Given the description of an element on the screen output the (x, y) to click on. 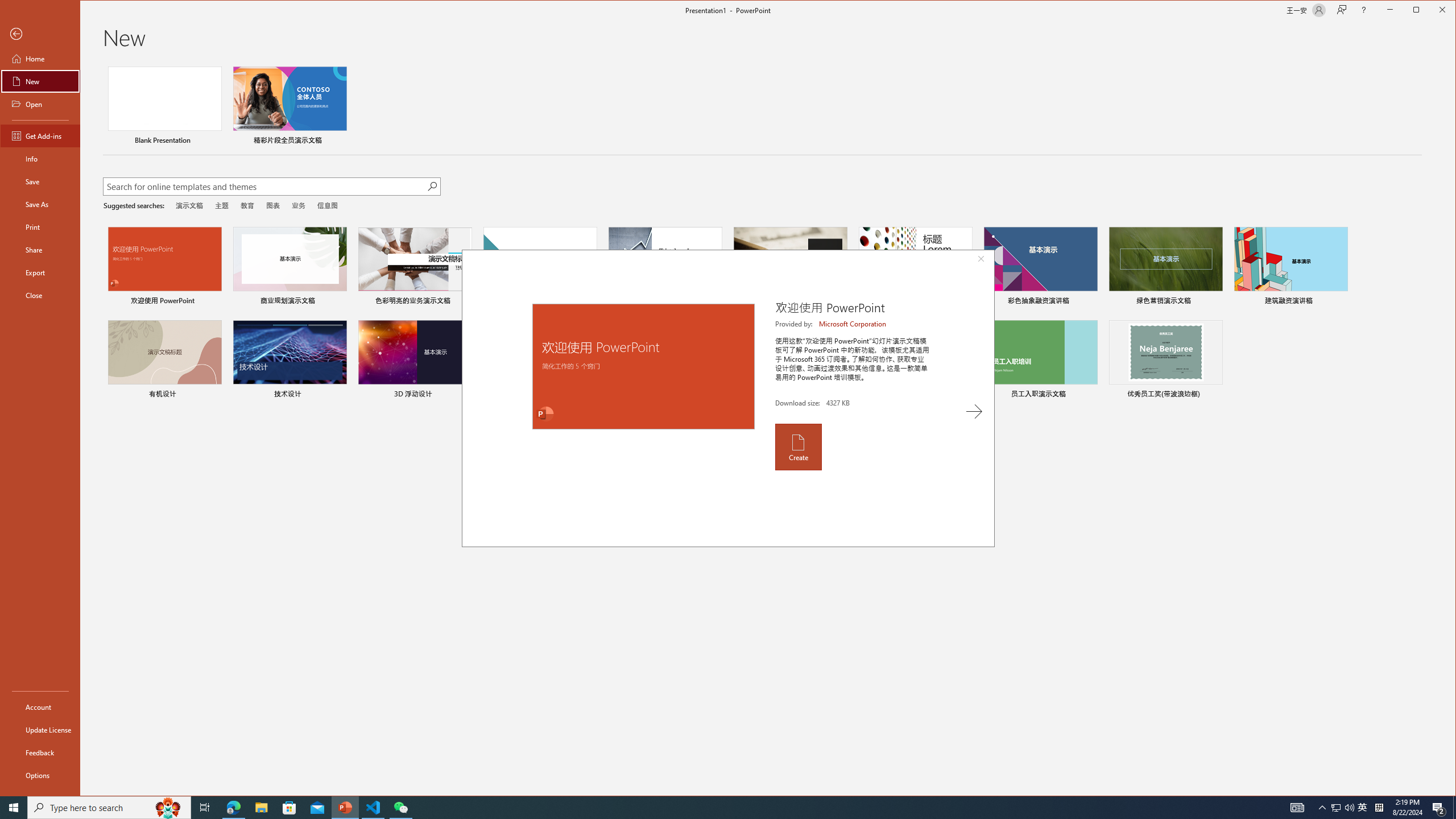
Start searching (431, 185)
WeChat - 1 running window (400, 807)
Get Add-ins (40, 135)
Back (40, 34)
Tray Input Indicator - Chinese (Simplified, China) (1335, 807)
Show desktop (1378, 807)
